Given the description of an element on the screen output the (x, y) to click on. 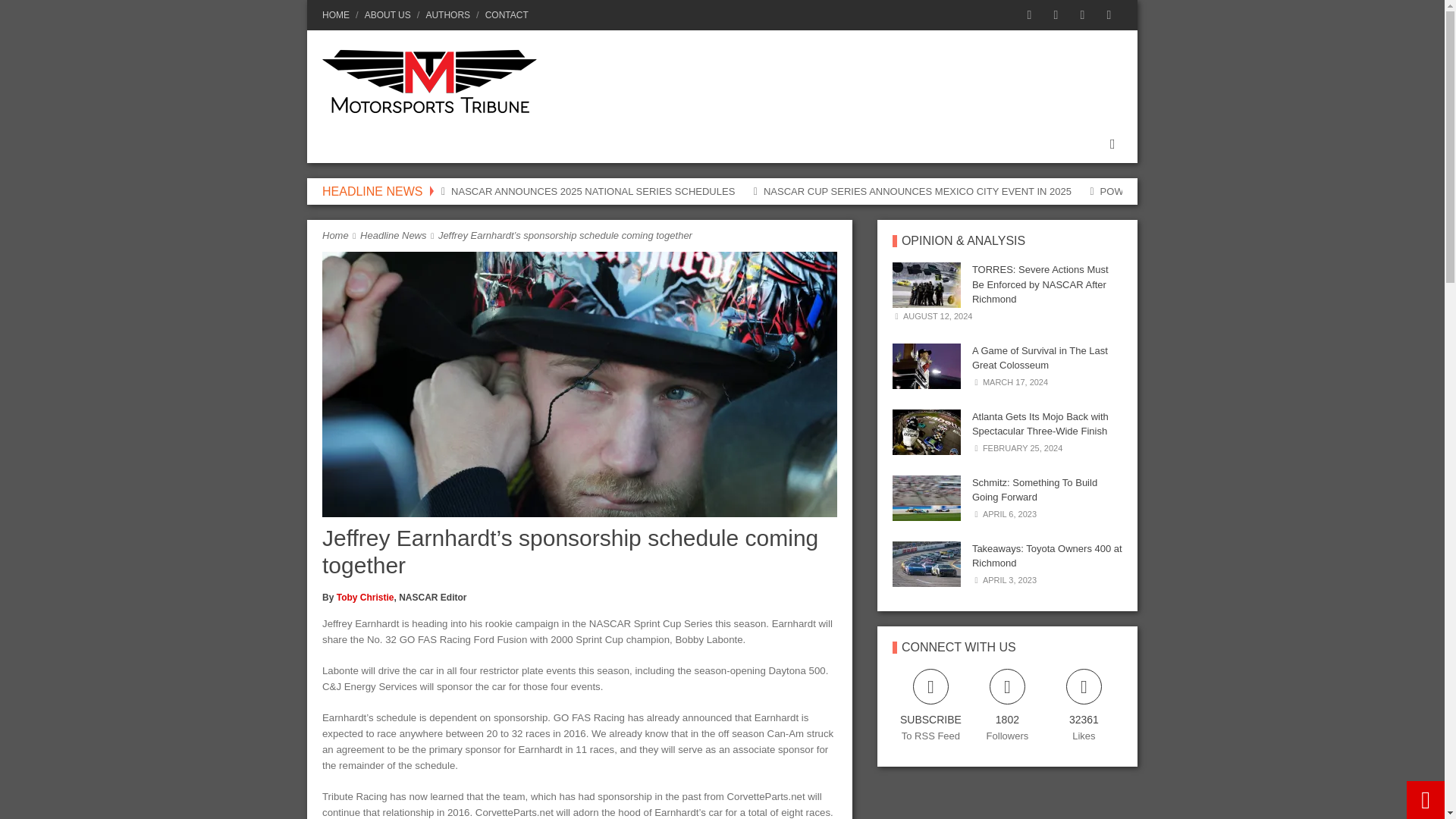
ABOUT US (387, 14)
POWER GAINS GROUND ON PALOU WITH PORTLAND VICTORY (1250, 191)
CONTACT (503, 14)
Home (335, 235)
Headline News (392, 235)
INDYCAR (427, 143)
DRIVER COLUMNS (536, 143)
MULTIMEDIA (748, 143)
